Given the description of an element on the screen output the (x, y) to click on. 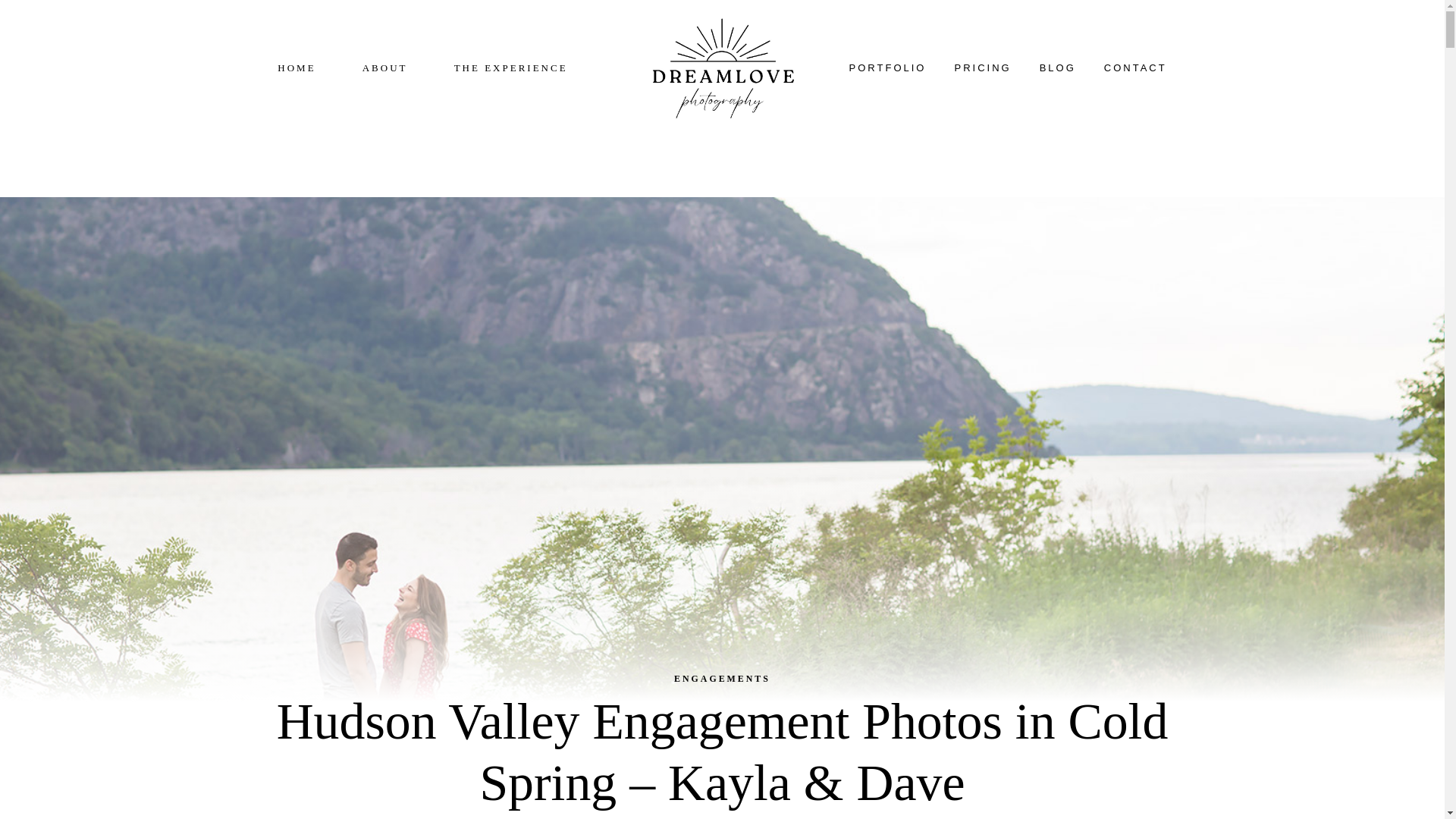
PORTFOLIO (887, 67)
BLOG (1057, 67)
PRICING (983, 67)
HOME (295, 67)
THE EXPERIENCE (510, 67)
ENGAGEMENTS (722, 678)
CONTACT (1134, 67)
ABOUT (384, 67)
